Given the description of an element on the screen output the (x, y) to click on. 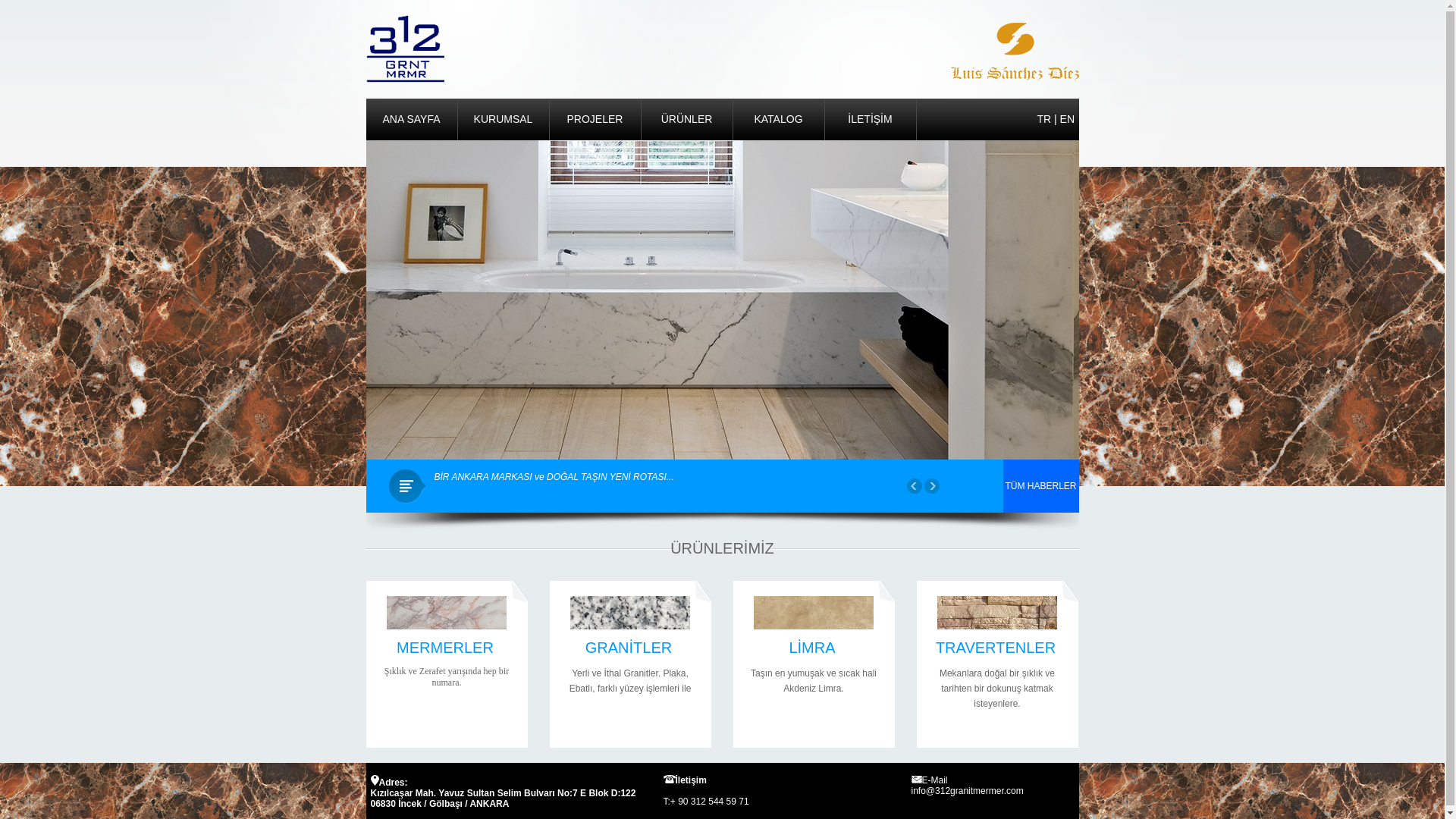
#sliderCaption1 Element type: hover (402, 146)
#sliderCaption5 Element type: hover (721, 299)
EN Element type: text (1067, 118)
Sonraki Element type: hover (930, 484)
TR Element type: text (1044, 118)
